Given the description of an element on the screen output the (x, y) to click on. 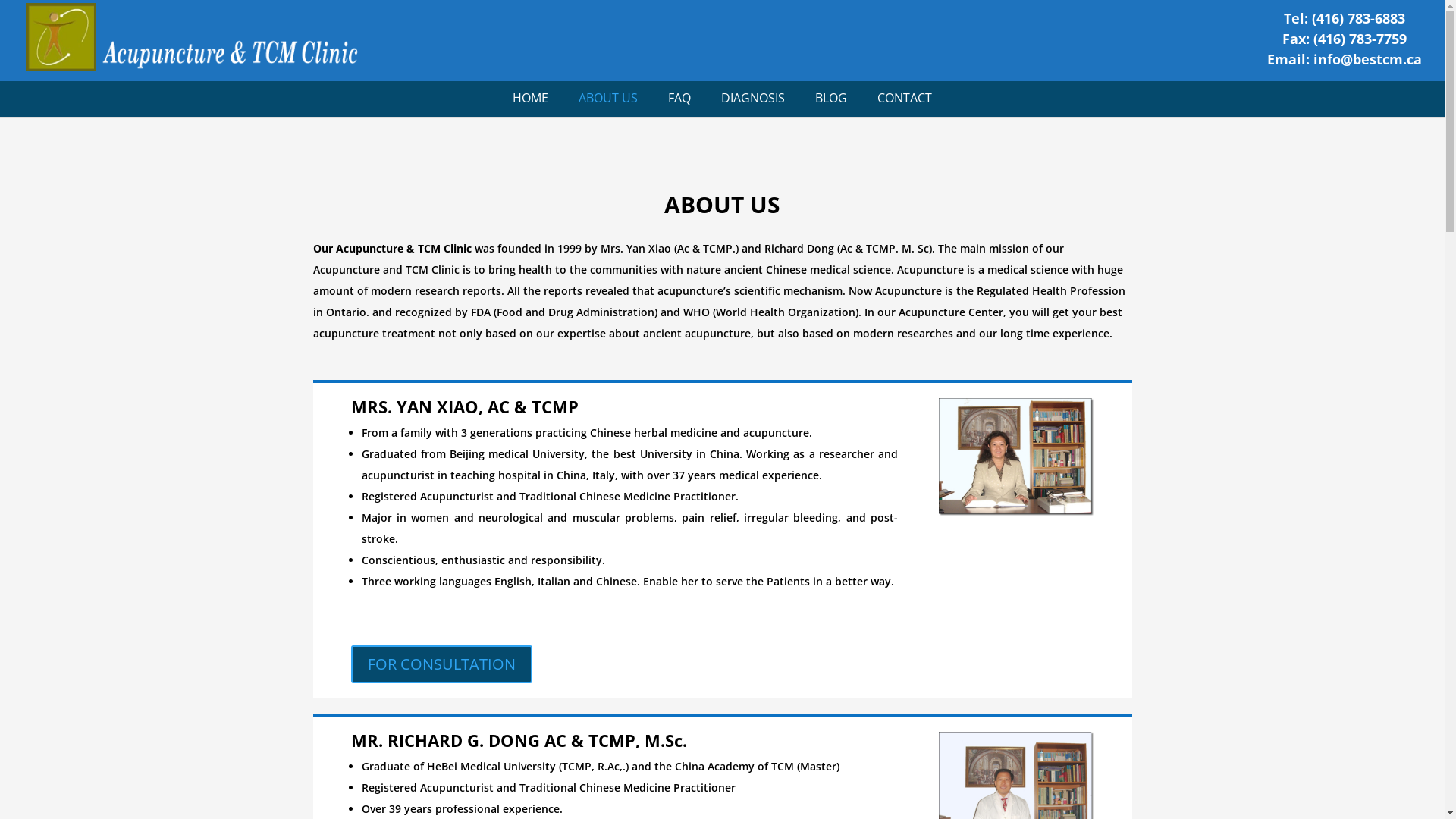
info@bestcm.ca Element type: text (1367, 59)
FOR CONSULTATION Element type: text (440, 664)
(416) 783-7759 Element type: text (1359, 38)
FAQ Element type: text (679, 104)
(416) 783-6883 Element type: text (1358, 18)
HOME Element type: text (530, 104)
DIAGNOSIS Element type: text (752, 104)
CONTACT Element type: text (904, 104)
BLOG Element type: text (831, 104)
ABOUT US Element type: text (607, 104)
